Given the description of an element on the screen output the (x, y) to click on. 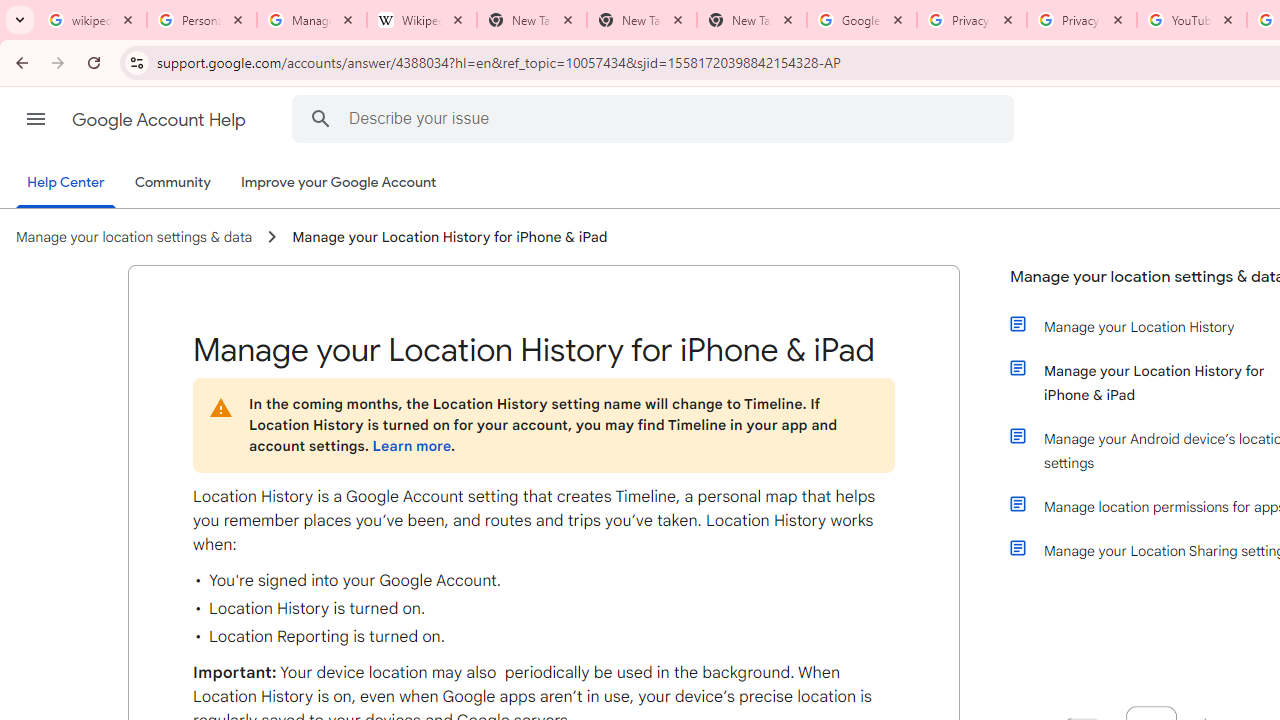
New Tab (752, 20)
Manage your Location History for iPhone & iPad (449, 237)
Community (171, 183)
Main menu (35, 119)
Google Drive: Sign-in (861, 20)
Manage your location settings & data (134, 237)
Improve your Google Account (339, 183)
YouTube (1191, 20)
Google Account Help (160, 119)
